Given the description of an element on the screen output the (x, y) to click on. 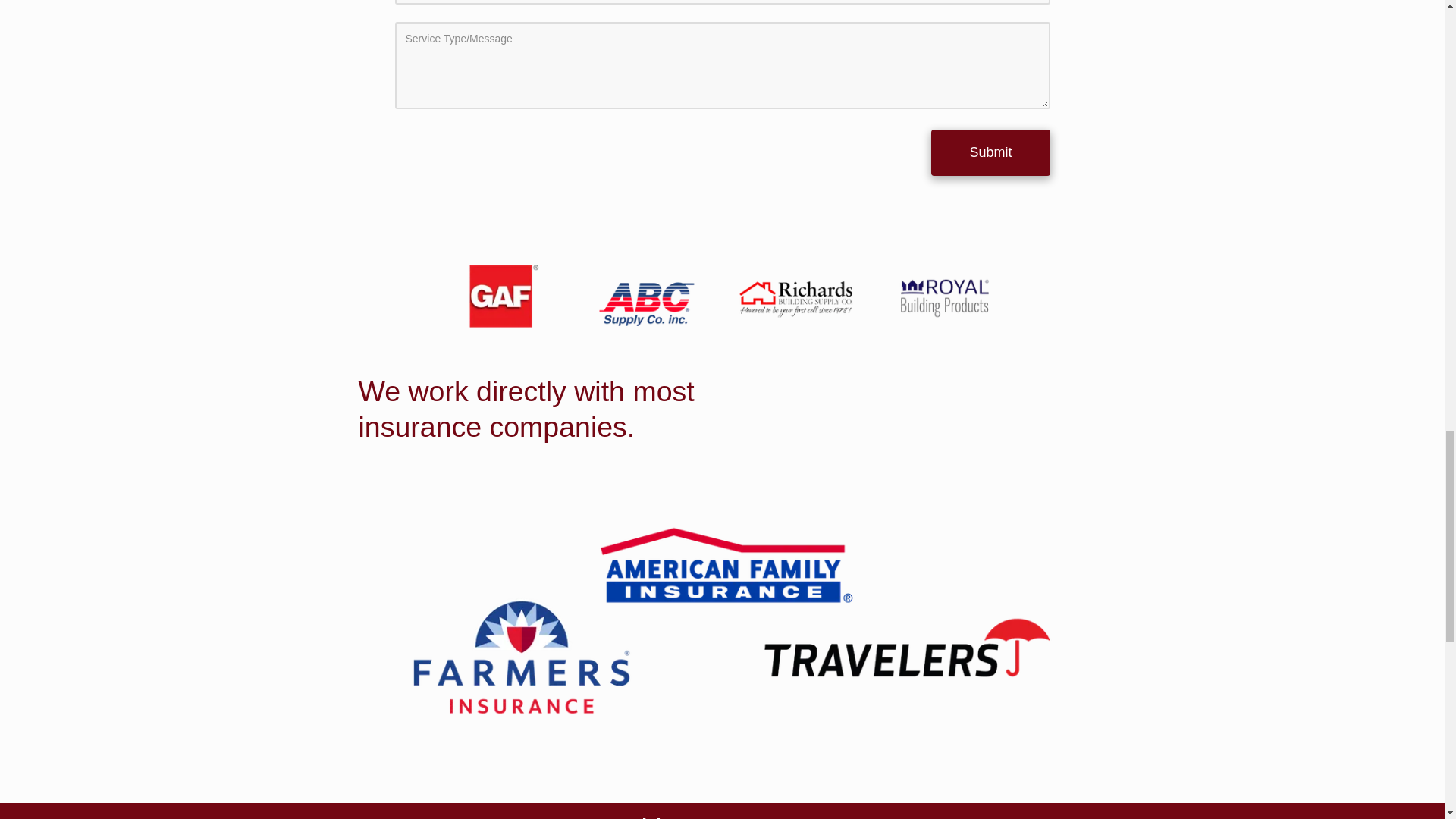
Submit (990, 152)
Submit (990, 152)
GAF logo (499, 298)
Richards Building Supply Co logo (796, 298)
Royal Building Products Logo (944, 298)
ABC Supply Co Logo (648, 298)
